Given the description of an element on the screen output the (x, y) to click on. 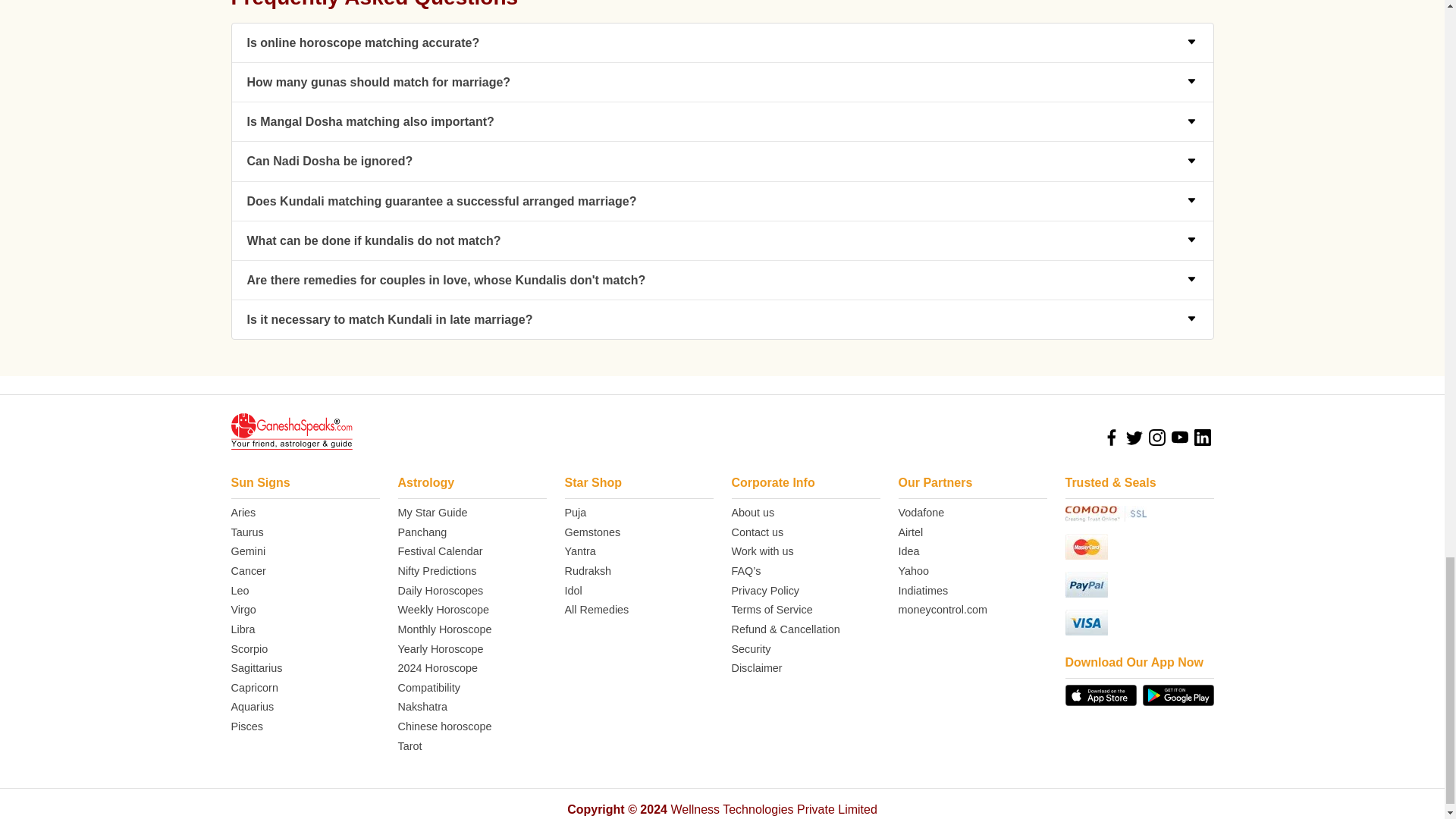
twitter (1133, 437)
youtube (1179, 437)
Aries (304, 513)
instagram (1156, 437)
facebook (1110, 437)
LinkedIn (1201, 437)
Ganeshaspeaks (291, 431)
